Given the description of an element on the screen output the (x, y) to click on. 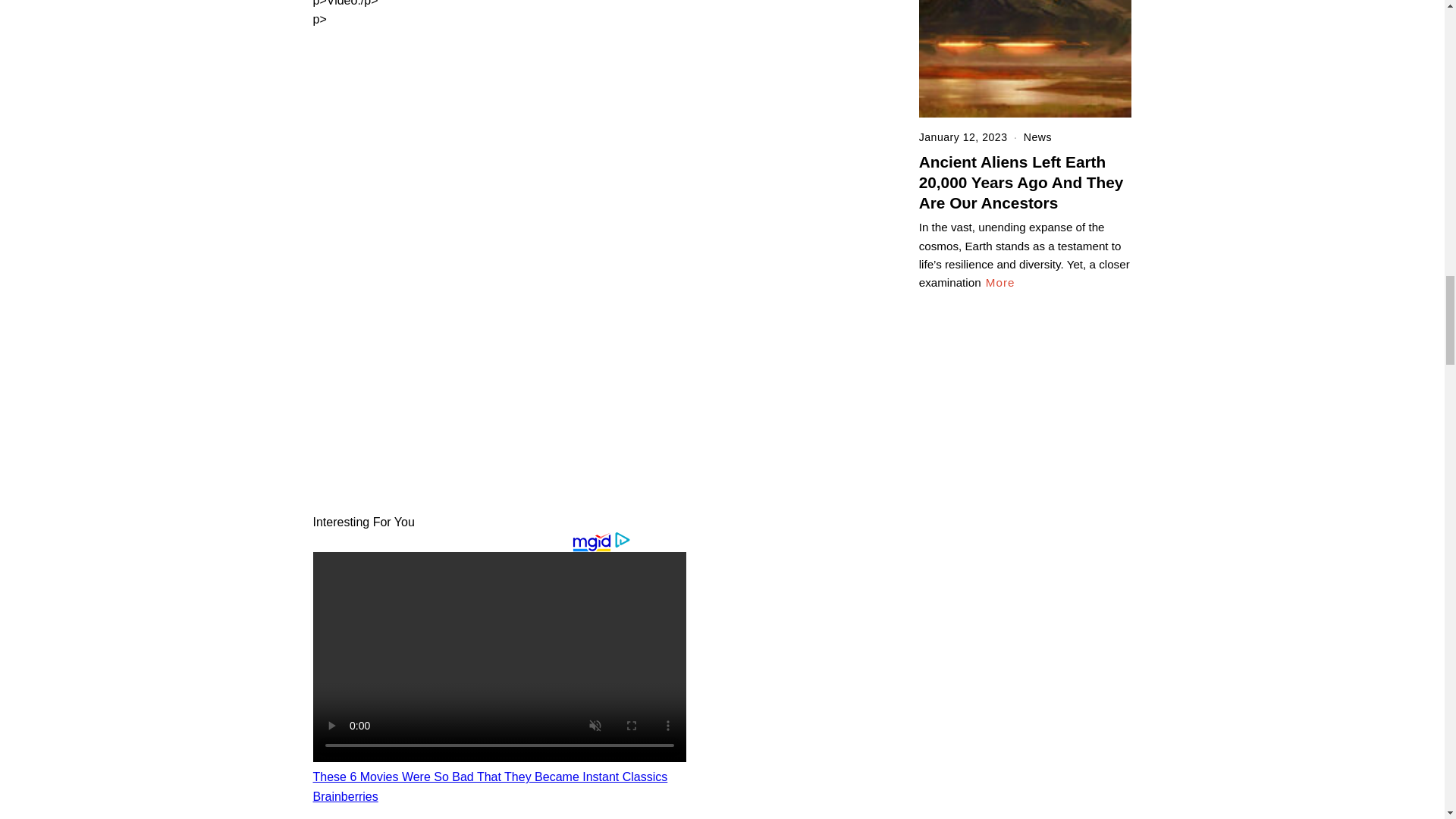
News (1037, 137)
More (999, 282)
